Given the description of an element on the screen output the (x, y) to click on. 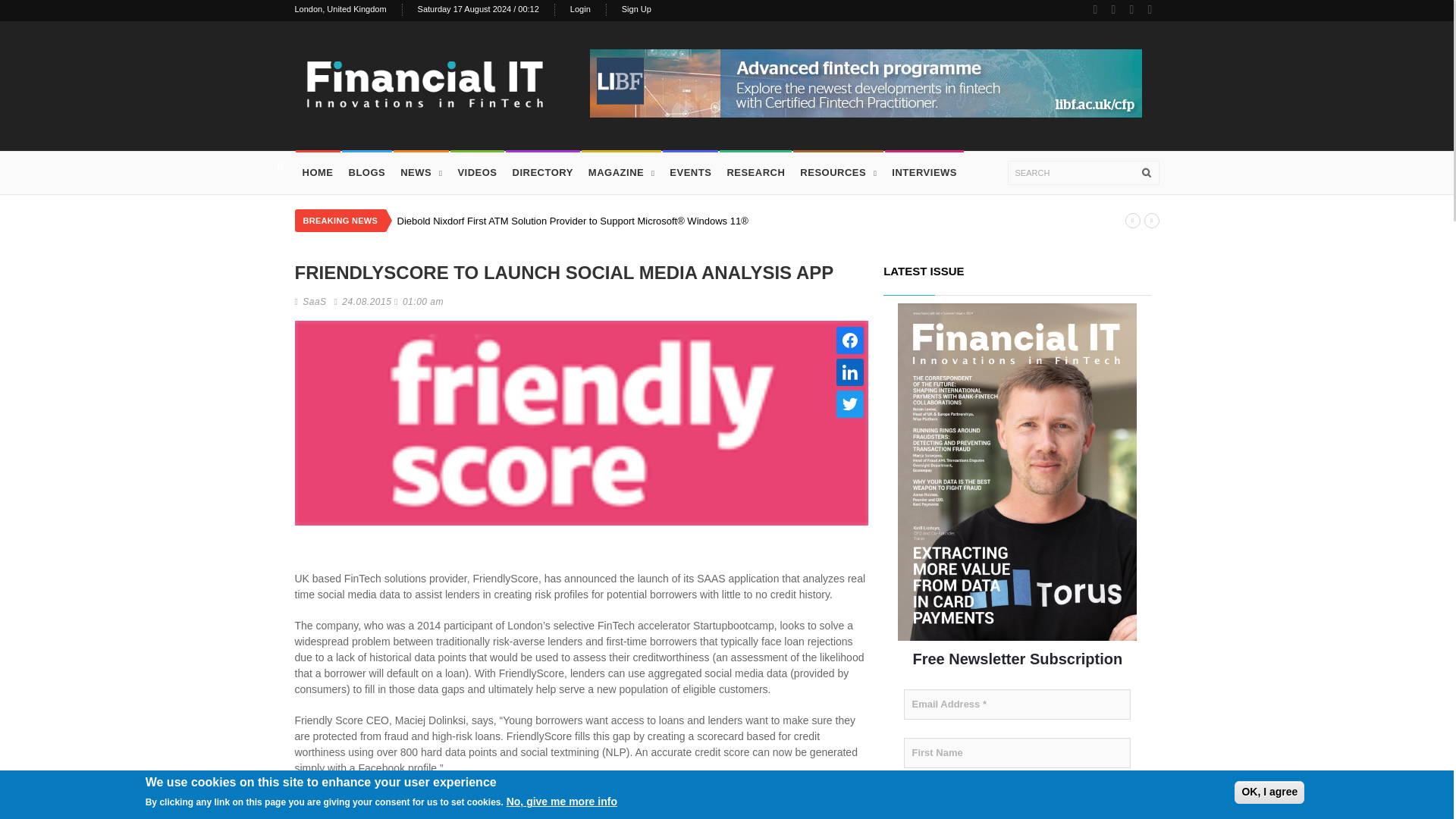
RESOURCES (837, 172)
Sign Up (635, 8)
HOME (317, 172)
BLOGS (366, 172)
MAGAZINE (621, 172)
Enter the terms you wish to search for. (1082, 172)
EVENTS (690, 172)
INTERVIEWS (923, 172)
RESEARCH (755, 172)
FriendlyScore To Launch Social Media Analysis App  (580, 427)
